Given the description of an element on the screen output the (x, y) to click on. 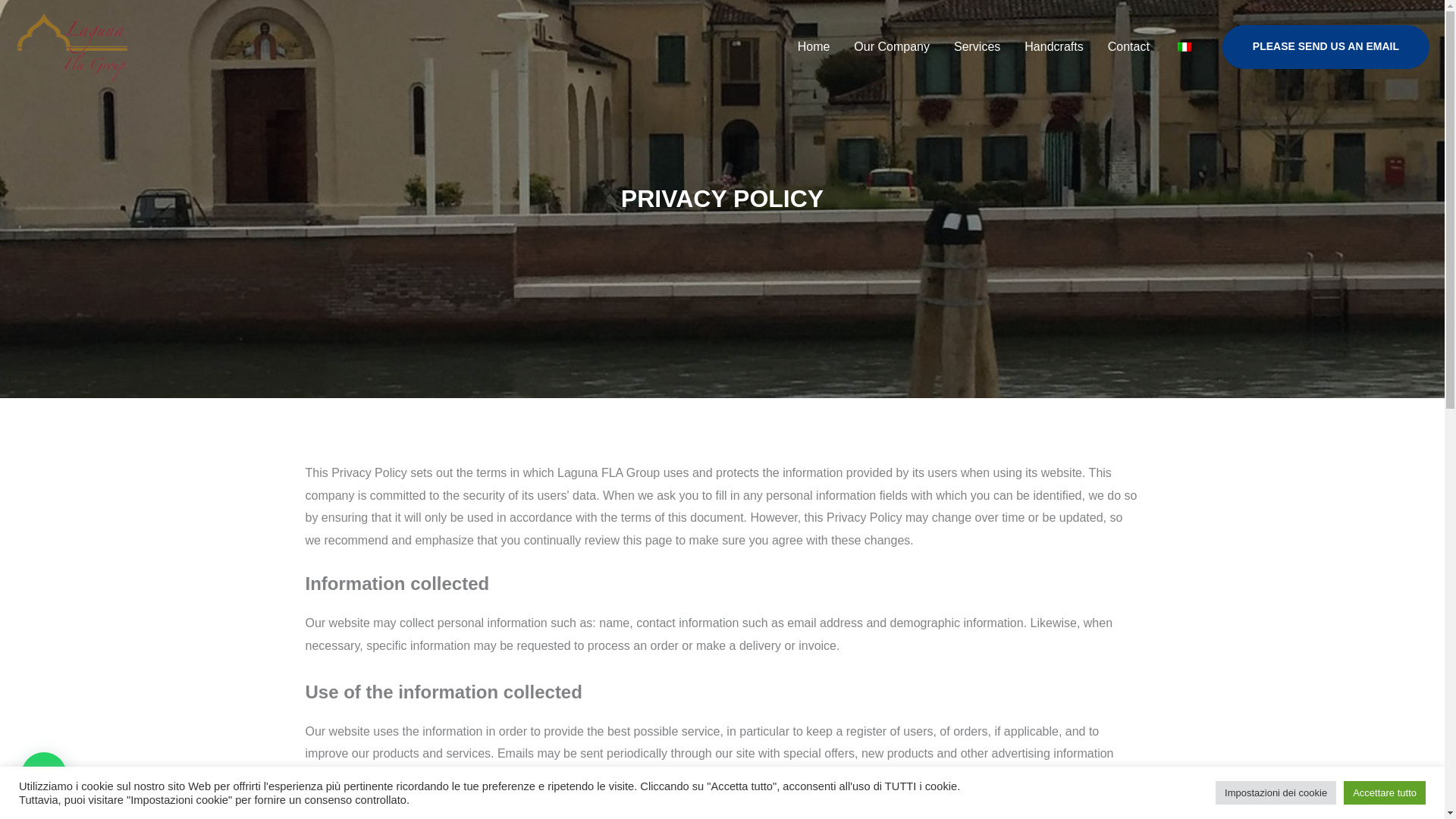
Contact (1128, 46)
Impostazioni dei cookie (1275, 792)
Services (976, 46)
Our Company (891, 46)
Italian (1184, 46)
Handcrafts (1052, 46)
Home (814, 46)
Accettare tutto (1384, 792)
PLEASE SEND US AN EMAIL (1326, 46)
